Given the description of an element on the screen output the (x, y) to click on. 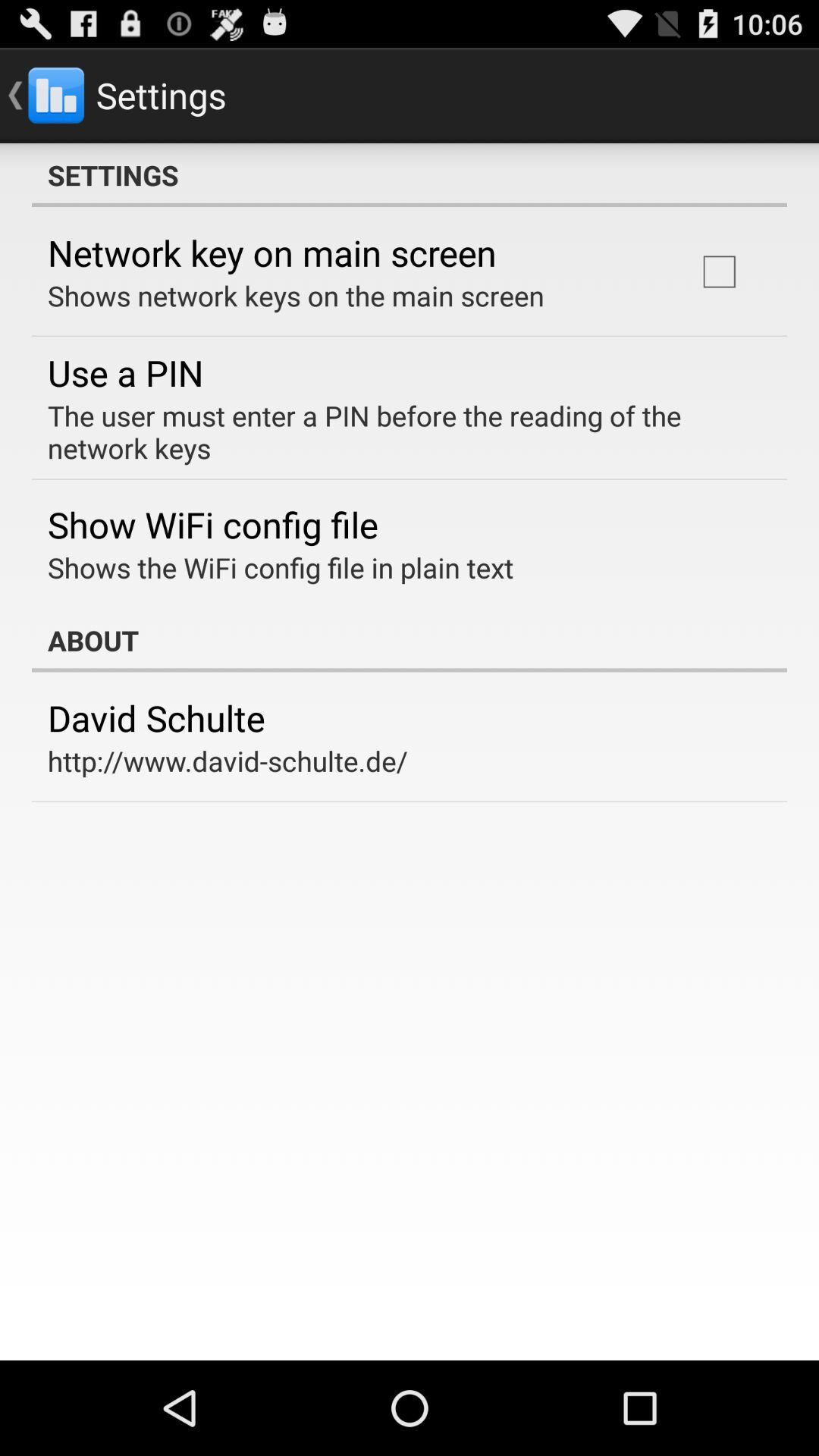
scroll until the about app (409, 640)
